Given the description of an element on the screen output the (x, y) to click on. 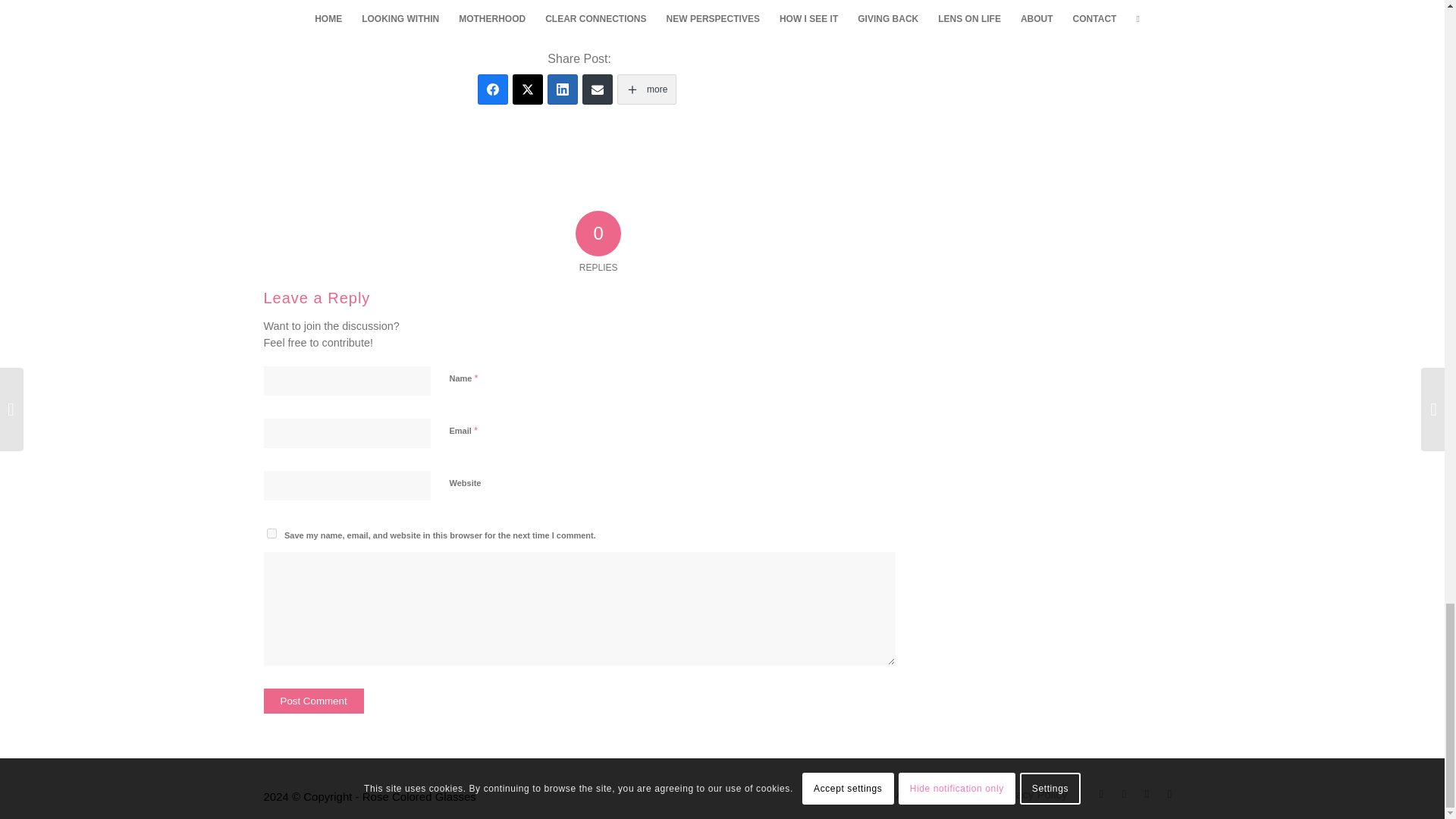
more (647, 89)
Post Comment (313, 700)
Post Comment (313, 700)
yes (271, 533)
